Given the description of an element on the screen output the (x, y) to click on. 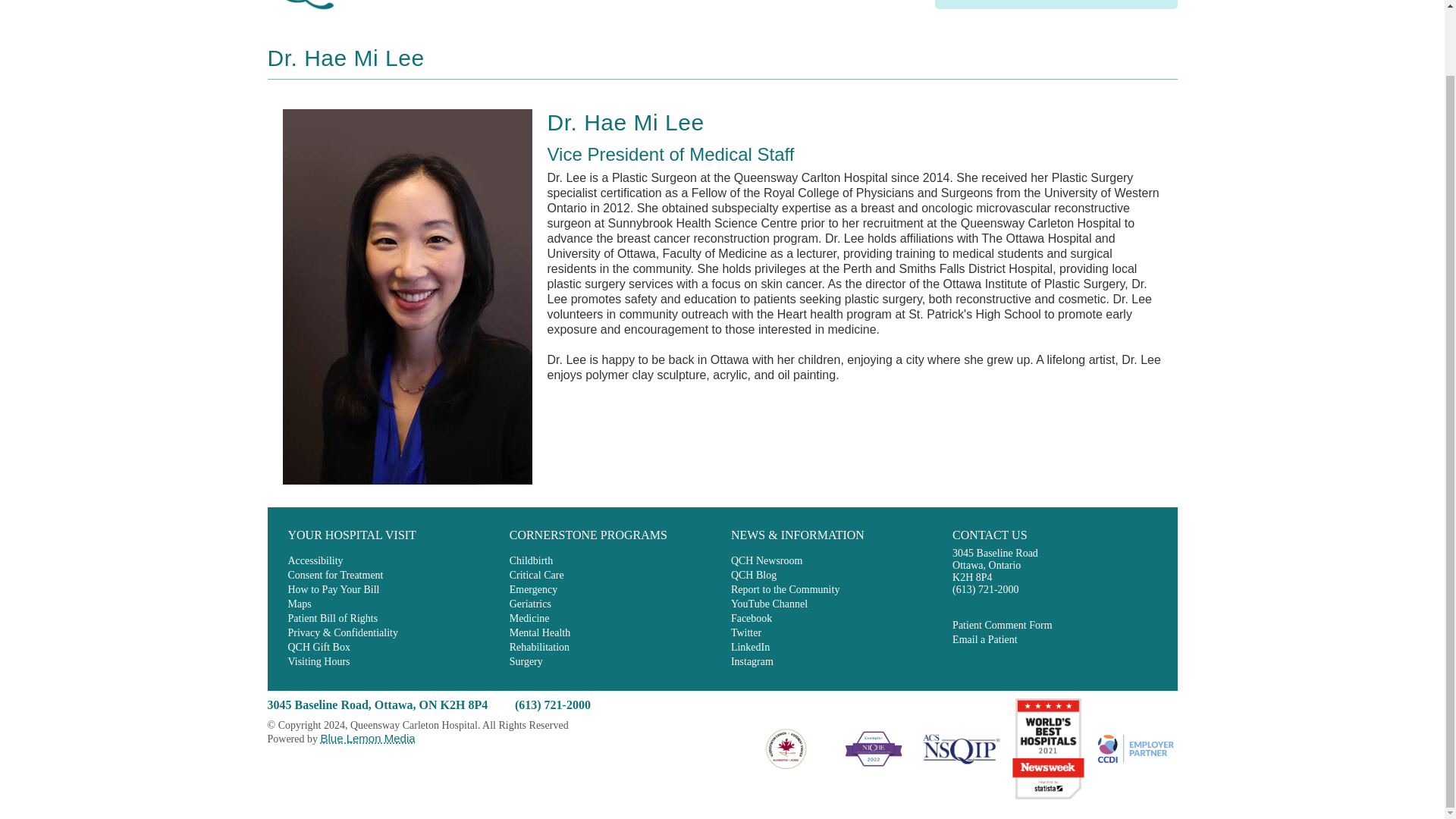
What Can We Help You With? (1043, 2)
